Given the description of an element on the screen output the (x, y) to click on. 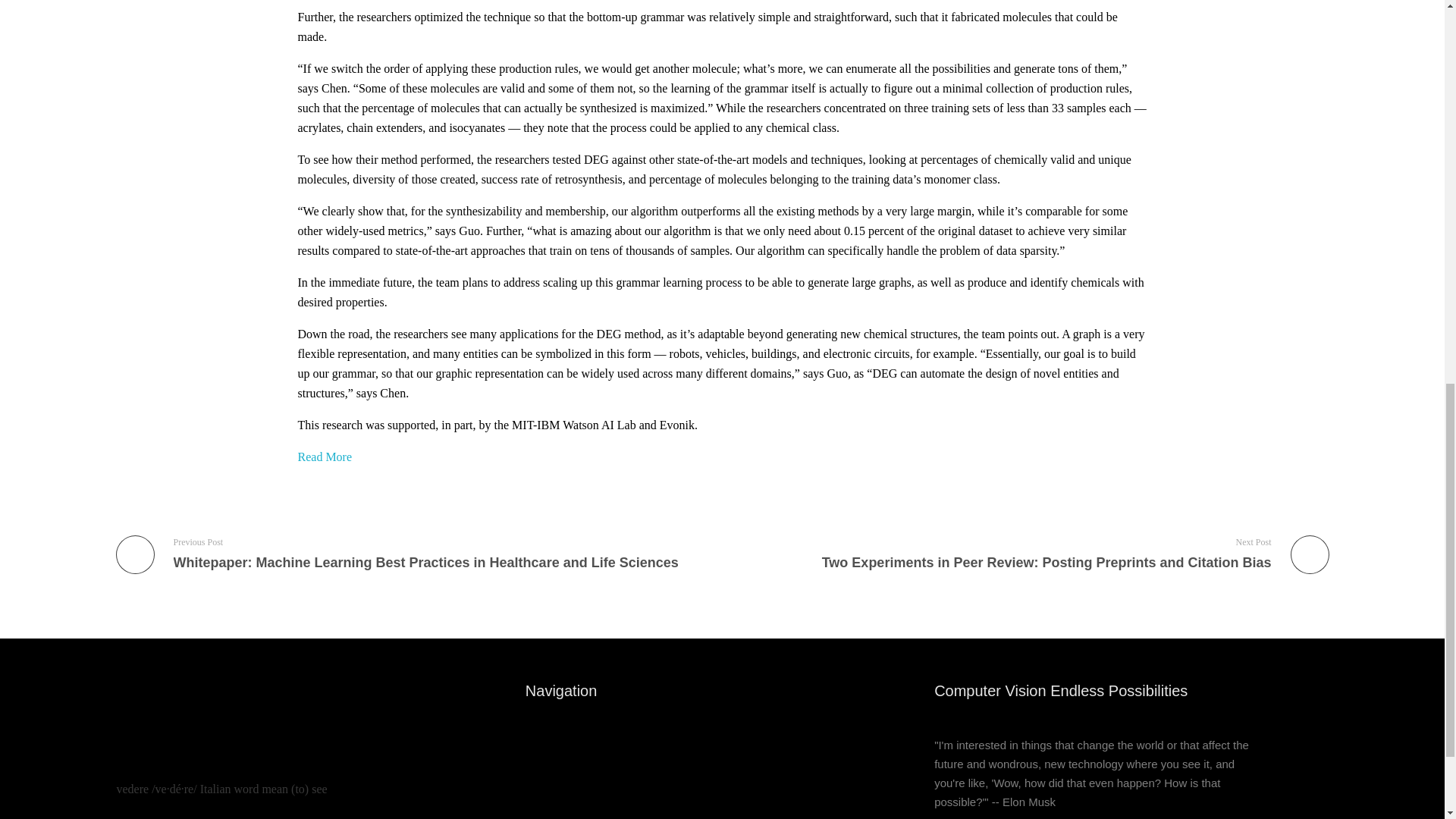
Read More (324, 456)
